Given the description of an element on the screen output the (x, y) to click on. 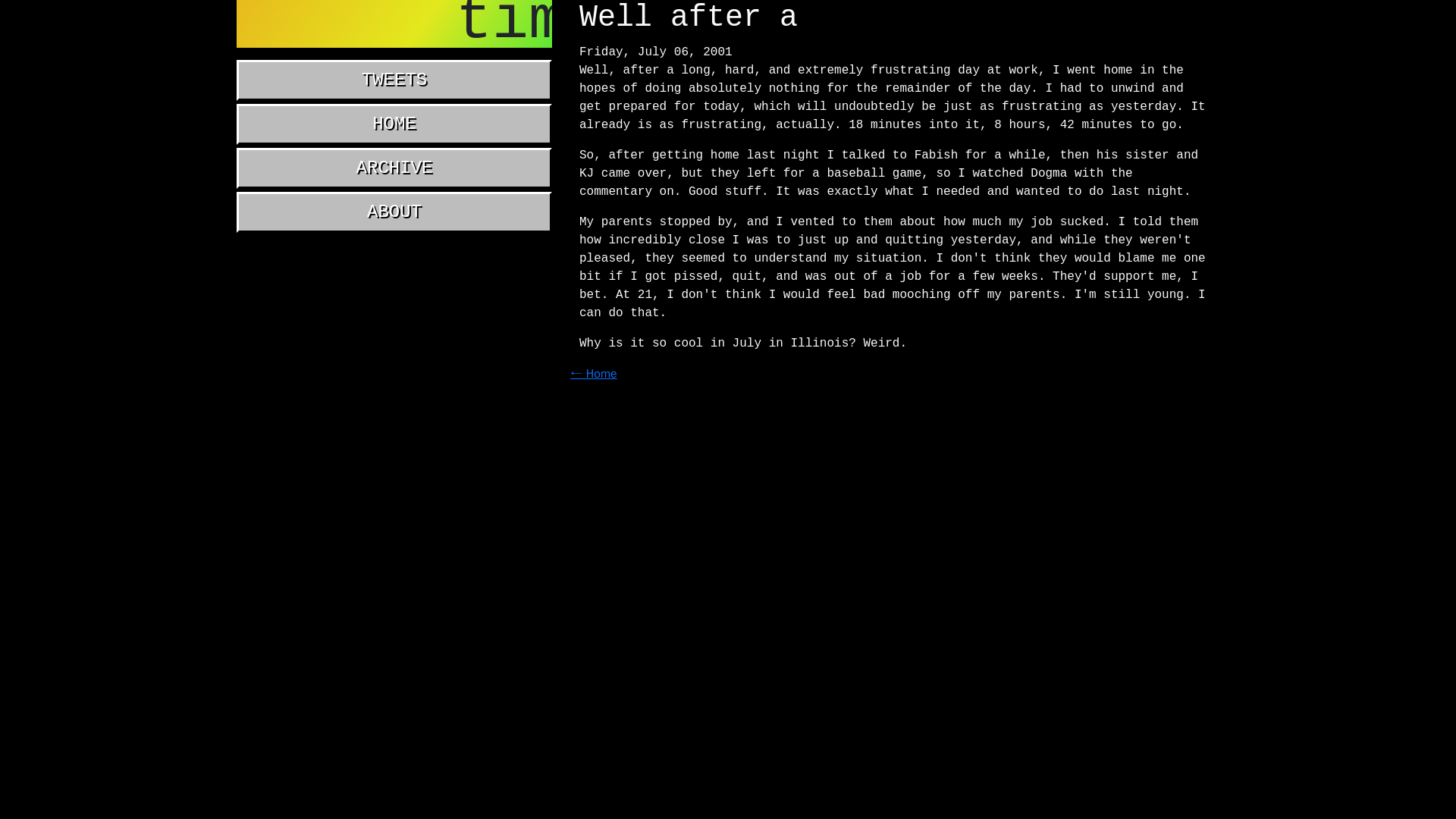
TWEETS (393, 79)
HOME (393, 124)
timwasson.com (393, 23)
ABOUT (393, 211)
ARCHIVE (393, 168)
